Given the description of an element on the screen output the (x, y) to click on. 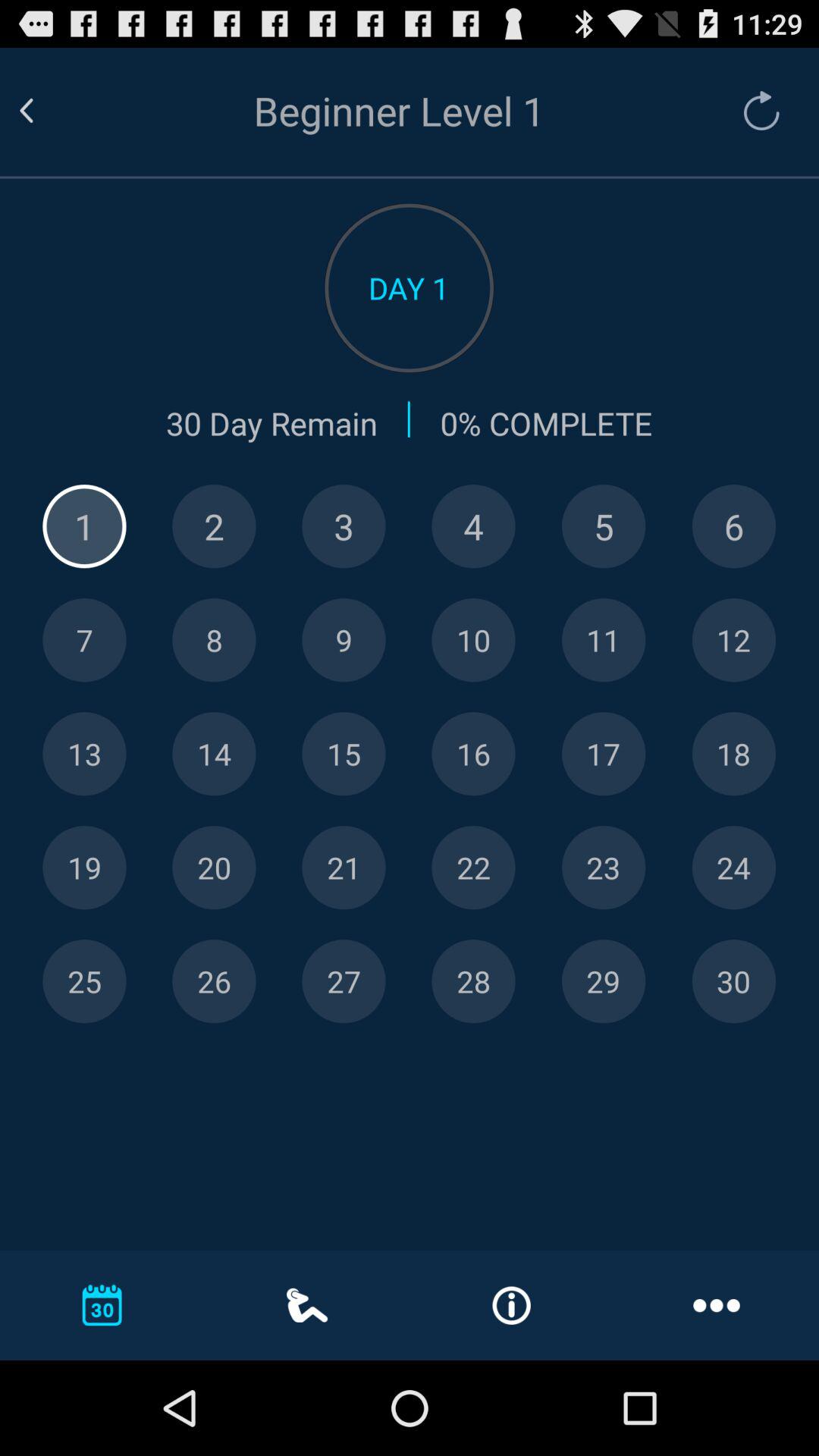
let you look at that specific day (603, 981)
